Given the description of an element on the screen output the (x, y) to click on. 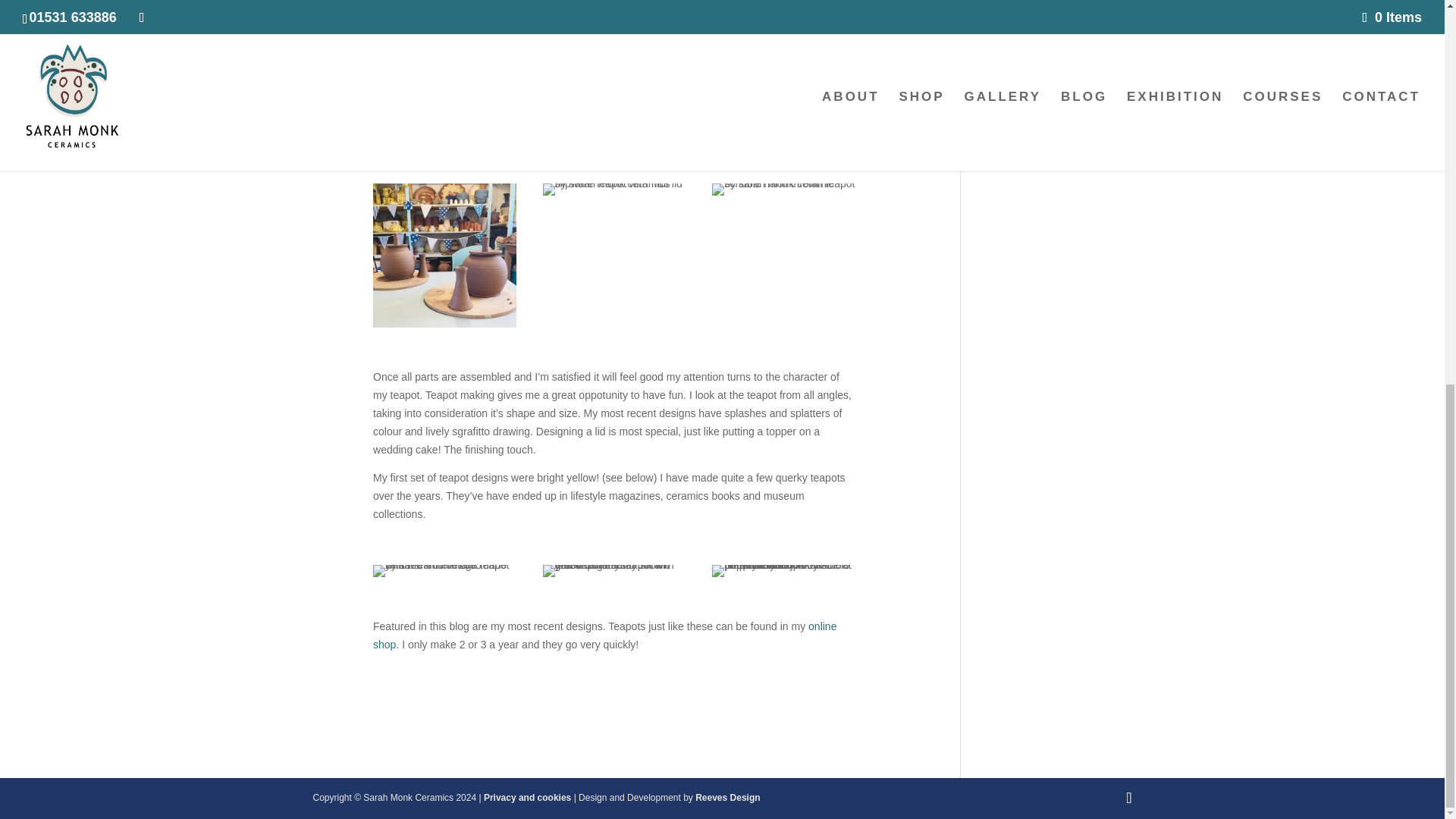
slipware fruit teapot (614, 189)
Assembling teapots by Sarah Monk (444, 255)
Reeves Design (727, 797)
online shop (603, 634)
Privacy and cookies (528, 797)
Instagram (41, 74)
Teapot by sarah monk 1995 (444, 571)
yellow bug teapot by sarah monk (614, 571)
scribble tea pot (783, 189)
Scribble teapot with teacups (783, 571)
